Given the description of an element on the screen output the (x, y) to click on. 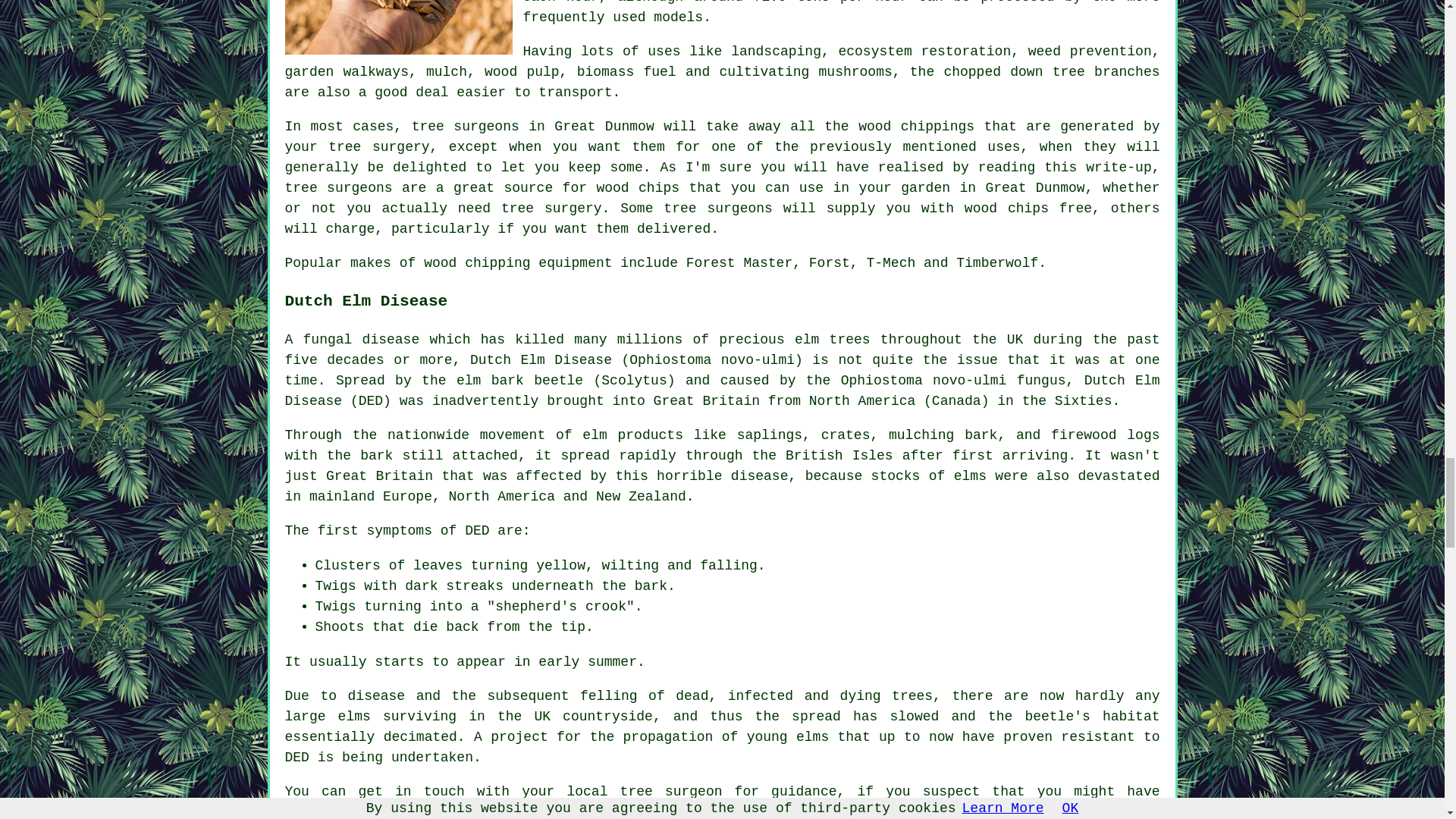
Wood Chipping Great Dunmow (398, 27)
